Given the description of an element on the screen output the (x, y) to click on. 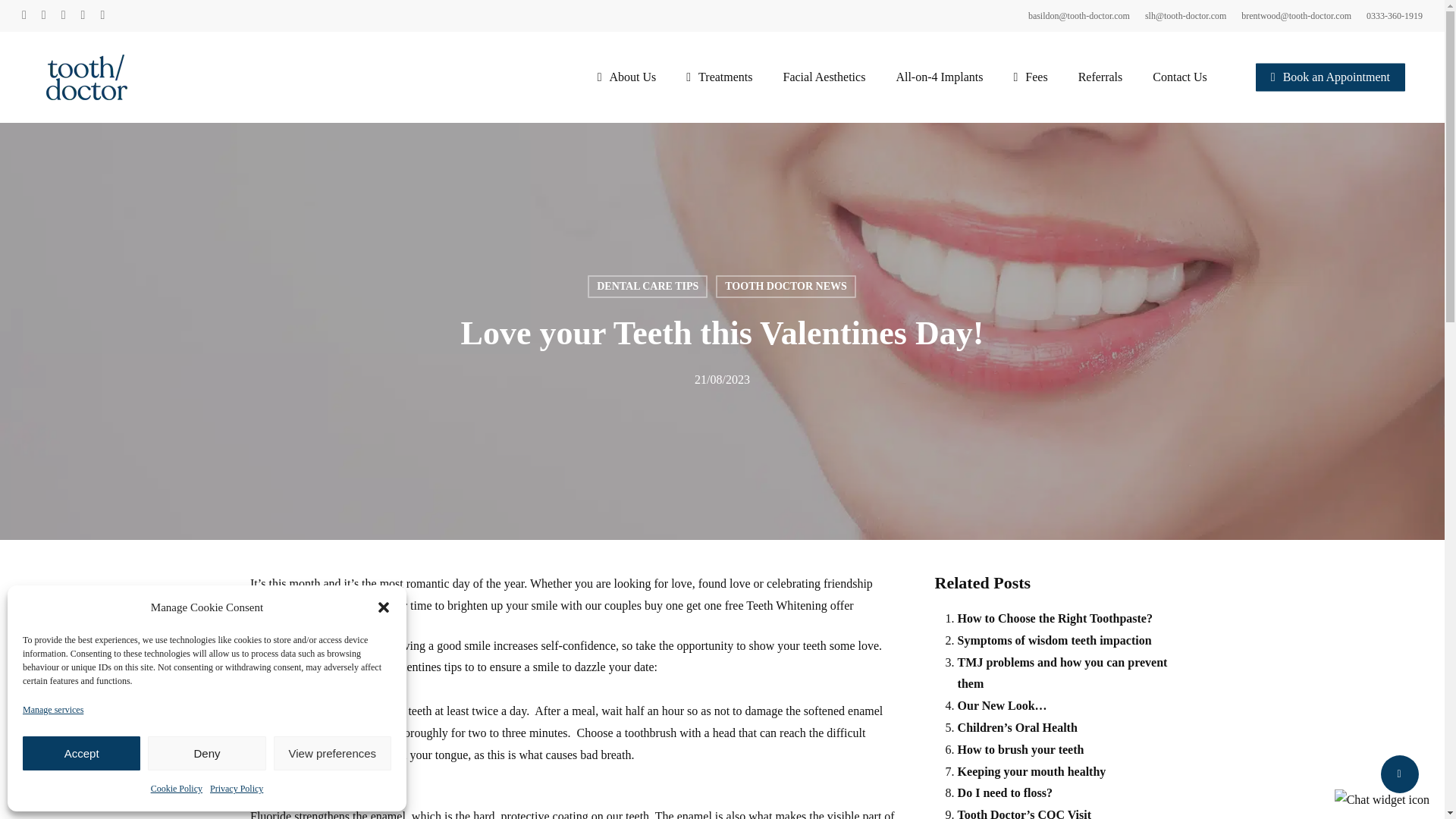
Cookie Policy (176, 789)
About Us (626, 76)
Accept (81, 753)
Privacy Policy (236, 789)
View preferences (332, 753)
Manage services (52, 710)
Treatments (718, 76)
Deny (206, 753)
0333-360-1919 (1394, 15)
